Given the description of an element on the screen output the (x, y) to click on. 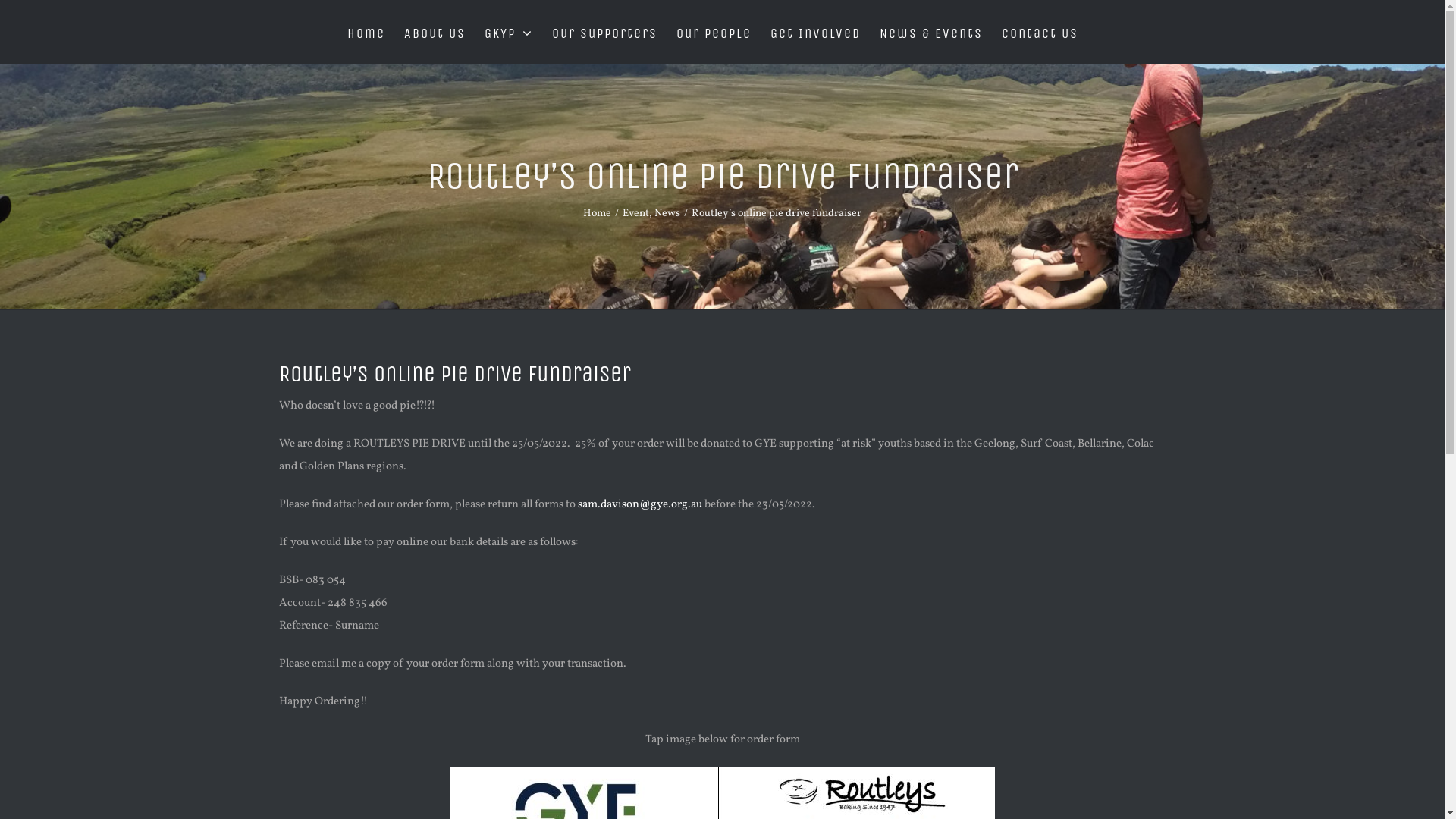
Home Element type: text (366, 31)
Our Supporters Element type: text (604, 31)
GKYP Element type: text (508, 31)
News Element type: text (667, 213)
Event Element type: text (635, 213)
Contact Us Element type: text (1039, 31)
Get Involved Element type: text (815, 31)
sam.davison@gye.org.au Element type: text (639, 504)
News & Events Element type: text (930, 31)
About Us Element type: text (434, 31)
Our People Element type: text (713, 31)
Home Element type: text (597, 213)
